Given the description of an element on the screen output the (x, y) to click on. 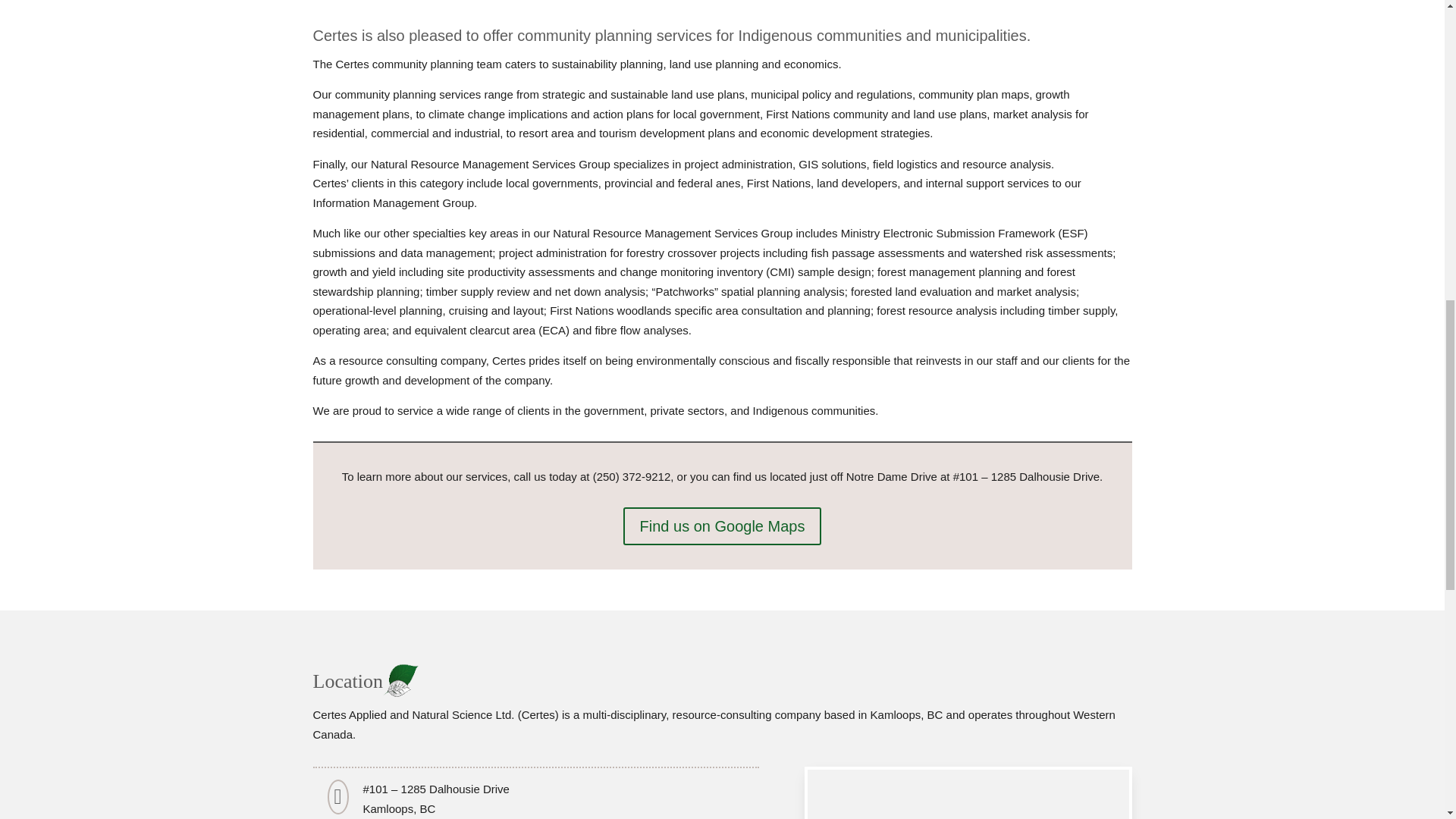
Find us on Google Maps (722, 525)
